Given the description of an element on the screen output the (x, y) to click on. 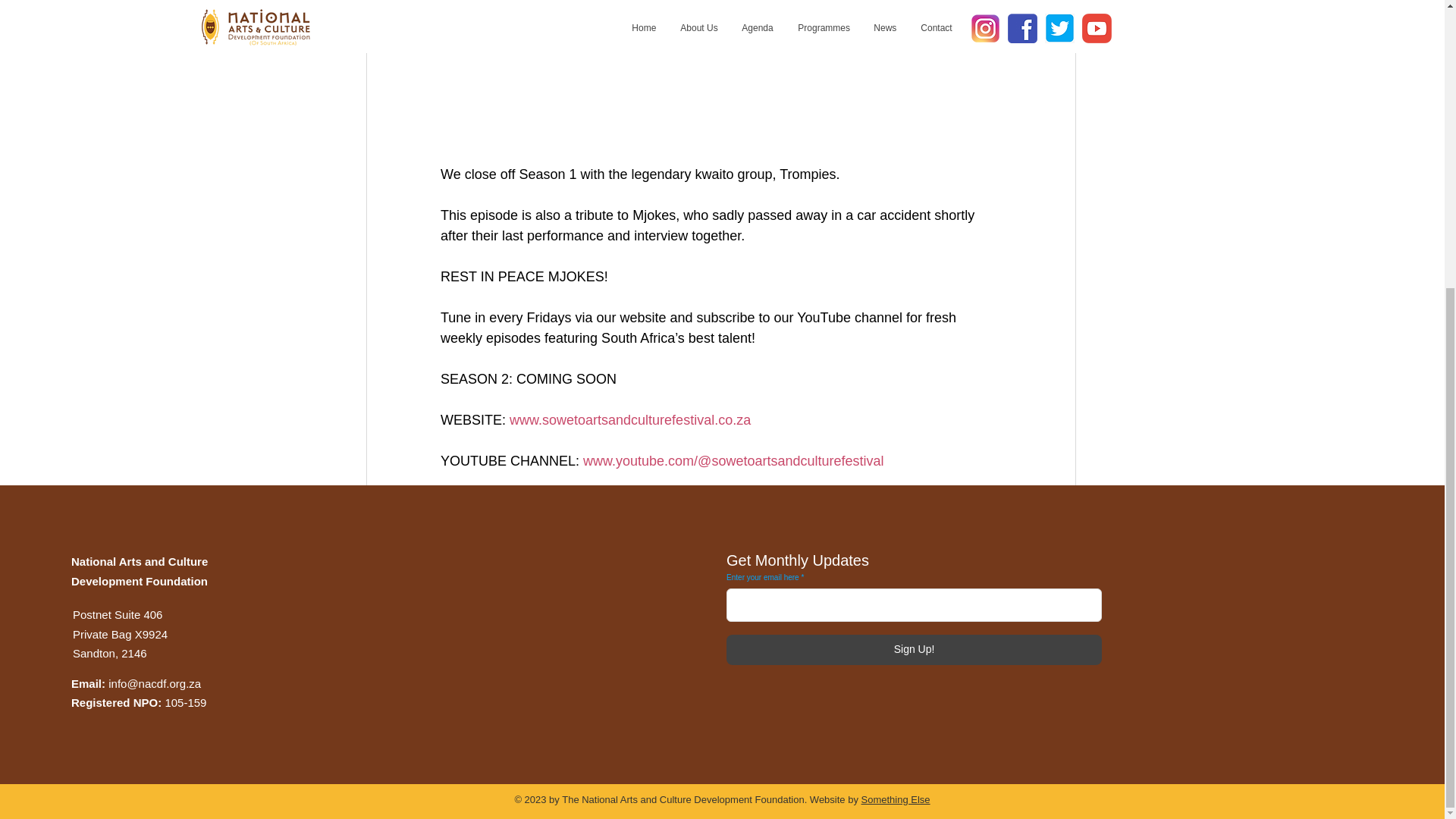
Sign Up! (914, 649)
Something Else (895, 799)
www.sowetoartsandculturefestival.co.za (630, 419)
